Given the description of an element on the screen output the (x, y) to click on. 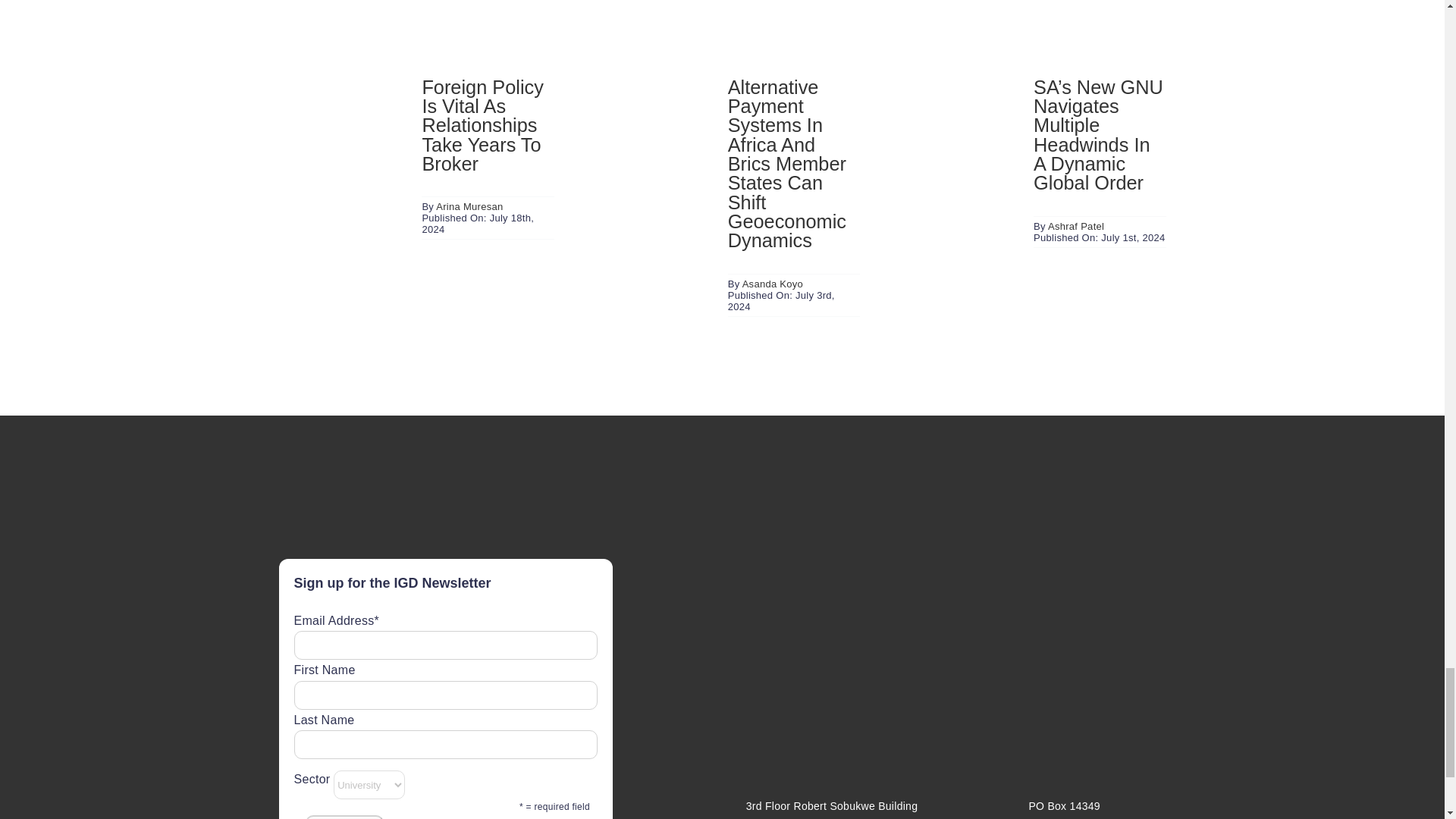
Subscribe (343, 816)
